Given the description of an element on the screen output the (x, y) to click on. 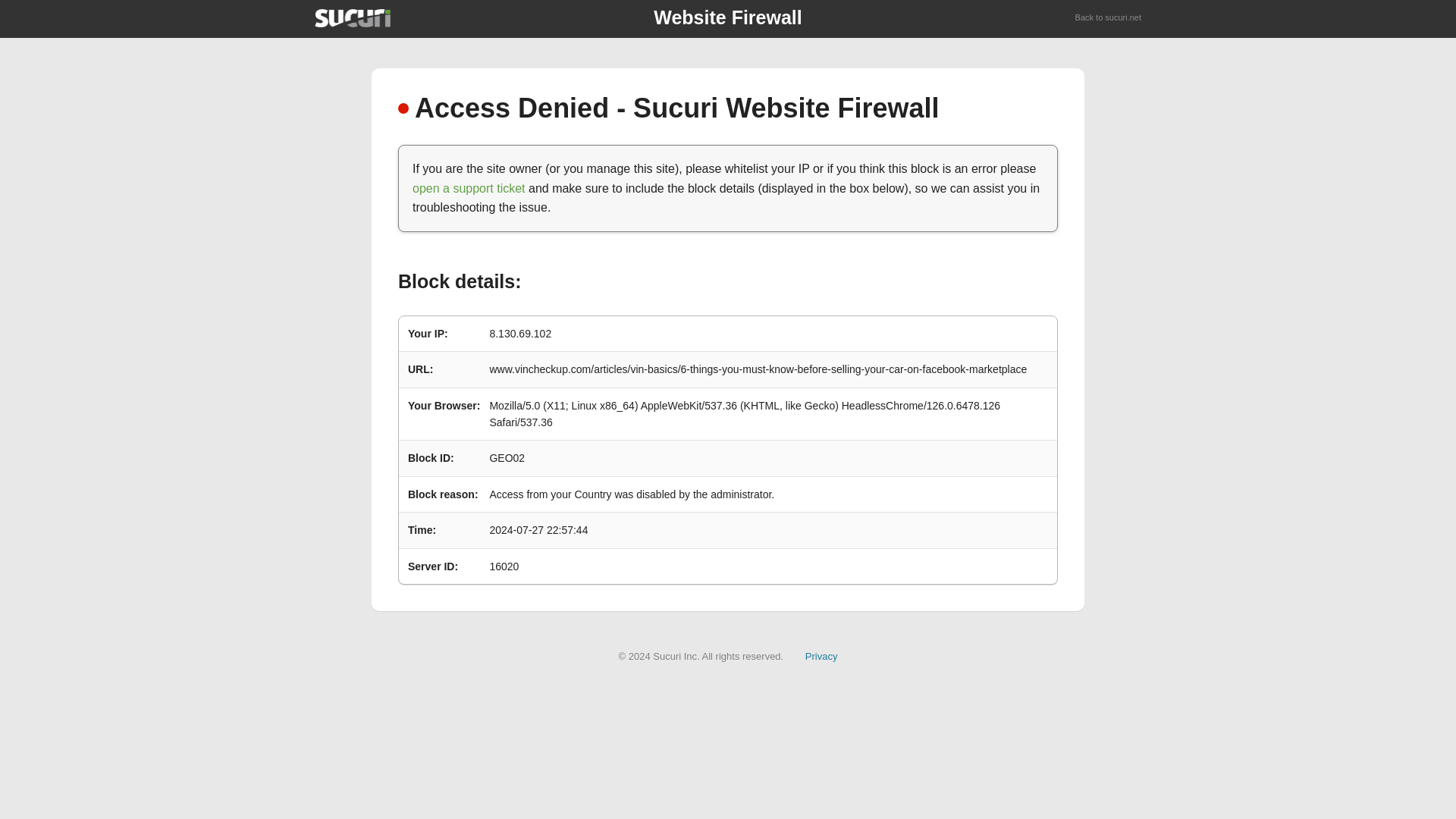
open a support ticket (468, 187)
Privacy (821, 655)
Back to sucuri.net (1108, 18)
